Given the description of an element on the screen output the (x, y) to click on. 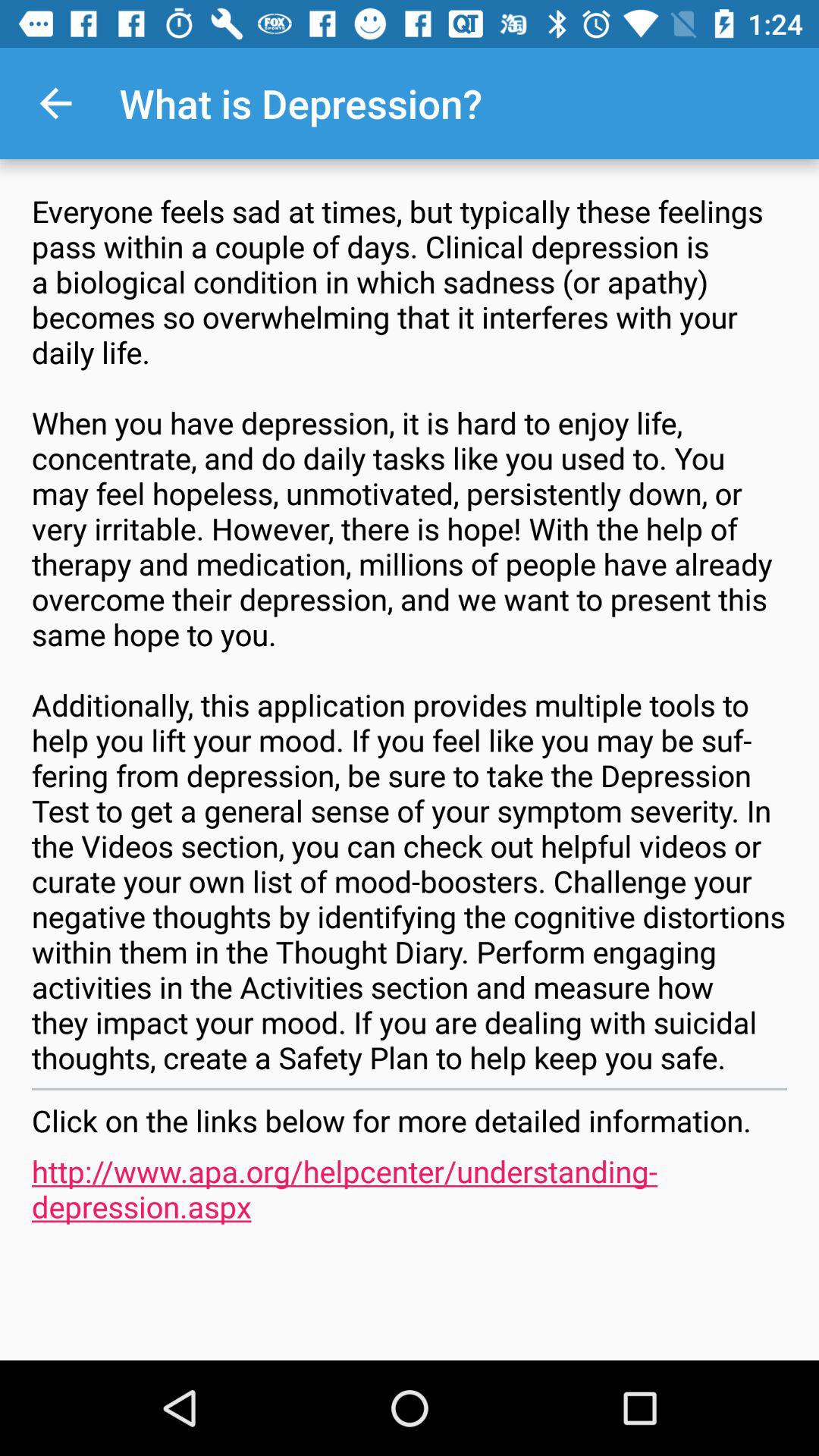
press the item next to the what is depression?  item (55, 103)
